Given the description of an element on the screen output the (x, y) to click on. 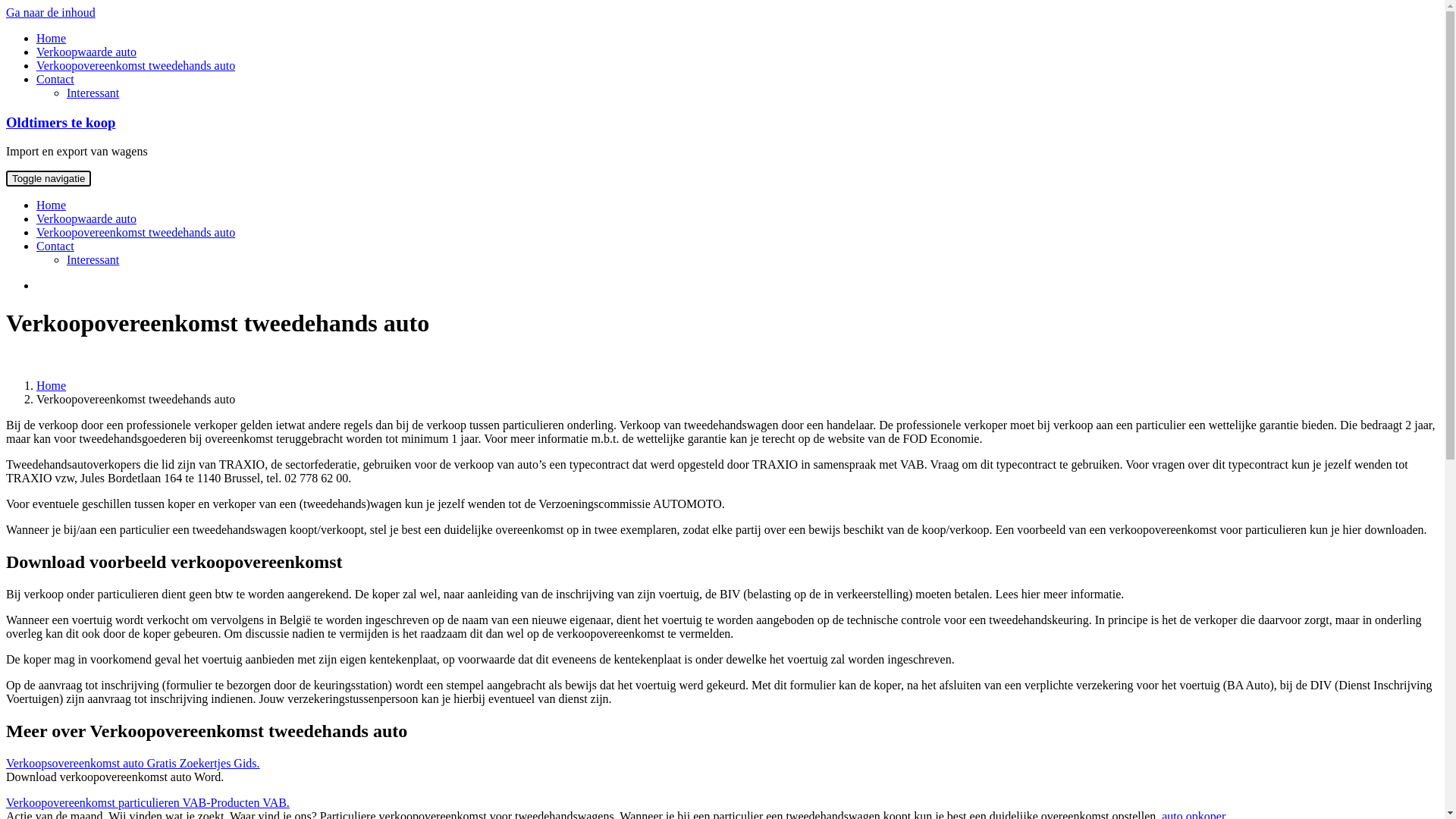
Toggle navigatie Element type: text (48, 178)
Verkoopovereenkomst tweedehands auto Element type: text (135, 65)
Interessant Element type: text (92, 259)
Ga naar de inhoud Element type: text (50, 12)
Home Element type: text (50, 385)
Interessant Element type: text (92, 92)
Verkoopwaarde auto Element type: text (86, 218)
Home Element type: text (50, 37)
Verkoopsovereenkomst auto Gratis Zoekertjes Gids. Element type: text (133, 762)
Verkoopwaarde auto Element type: text (86, 51)
Oldtimers te koop Element type: text (60, 122)
Verkoopovereenkomst tweedehands auto Element type: text (135, 231)
Home Element type: text (50, 204)
Contact Element type: text (55, 245)
Contact Element type: text (55, 78)
Verkoopovereenkomst particulieren VAB-Producten VAB. Element type: text (147, 802)
